Given the description of an element on the screen output the (x, y) to click on. 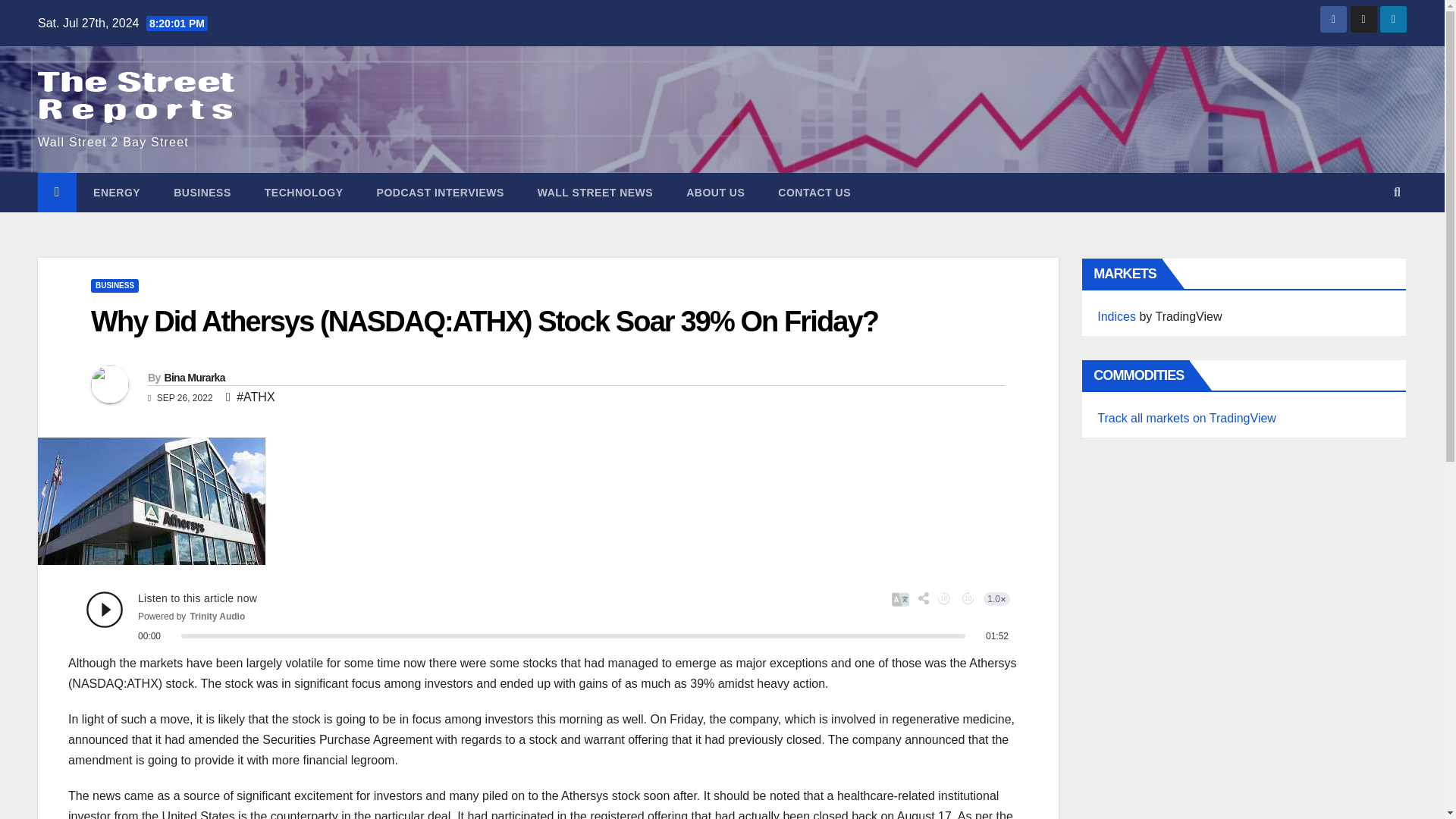
WALL STREET NEWS (595, 192)
ENERGY (117, 192)
CONTACT US (814, 192)
Energy (117, 192)
BUSINESS (114, 285)
TECHNOLOGY (303, 192)
Bina Murarka (193, 377)
PODCAST INTERVIEWS (440, 192)
Technology (303, 192)
ABOUT US (715, 192)
Podcast Interviews (440, 192)
Trinity Audio Player (548, 616)
Contact Us (814, 192)
Wall Street News (595, 192)
Track all markets on TradingView (1186, 418)
